Given the description of an element on the screen output the (x, y) to click on. 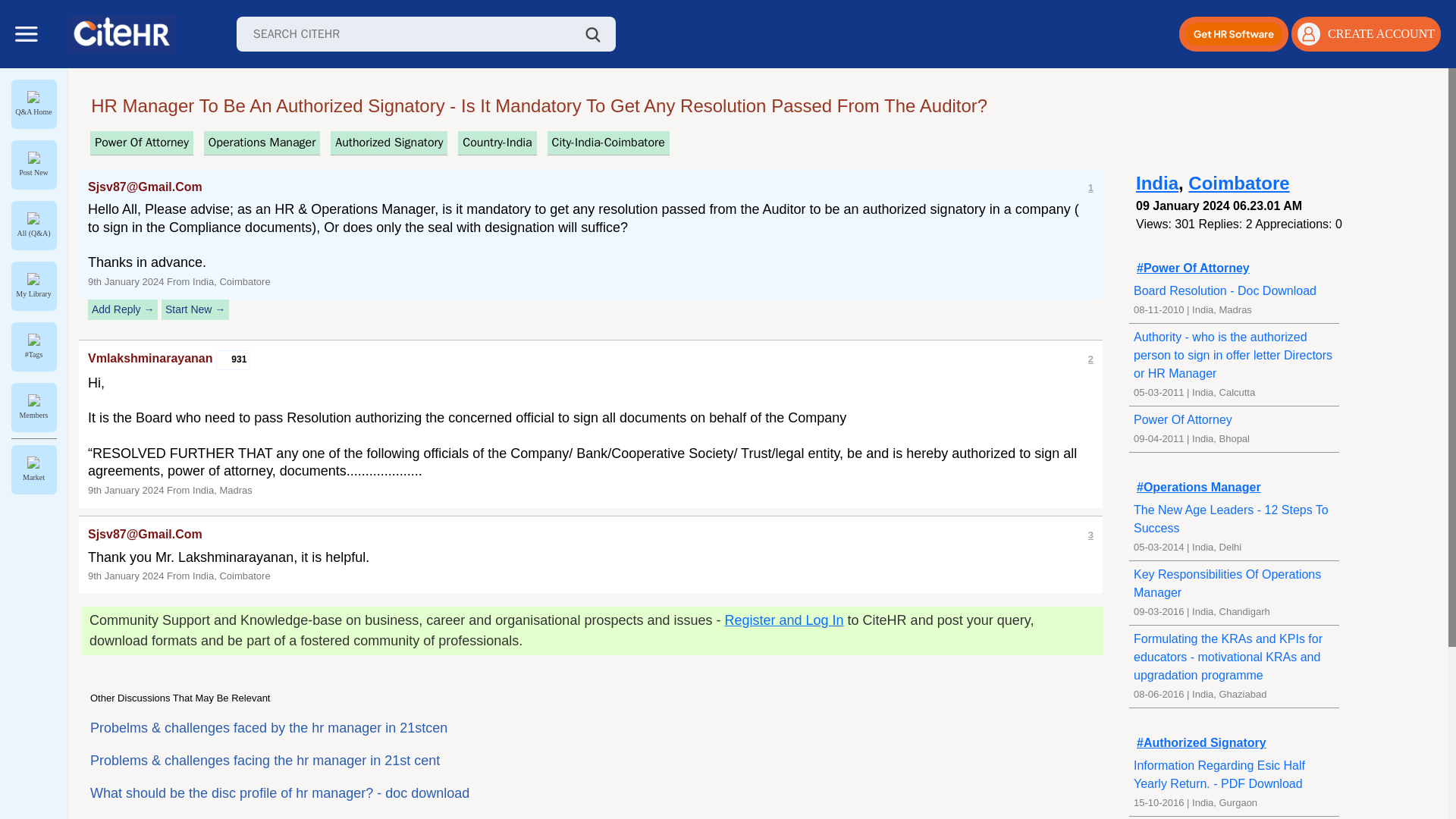
Post New (33, 164)
CREATE ACCOUNT (1366, 33)
My Library (33, 285)
Members (34, 406)
